Given the description of an element on the screen output the (x, y) to click on. 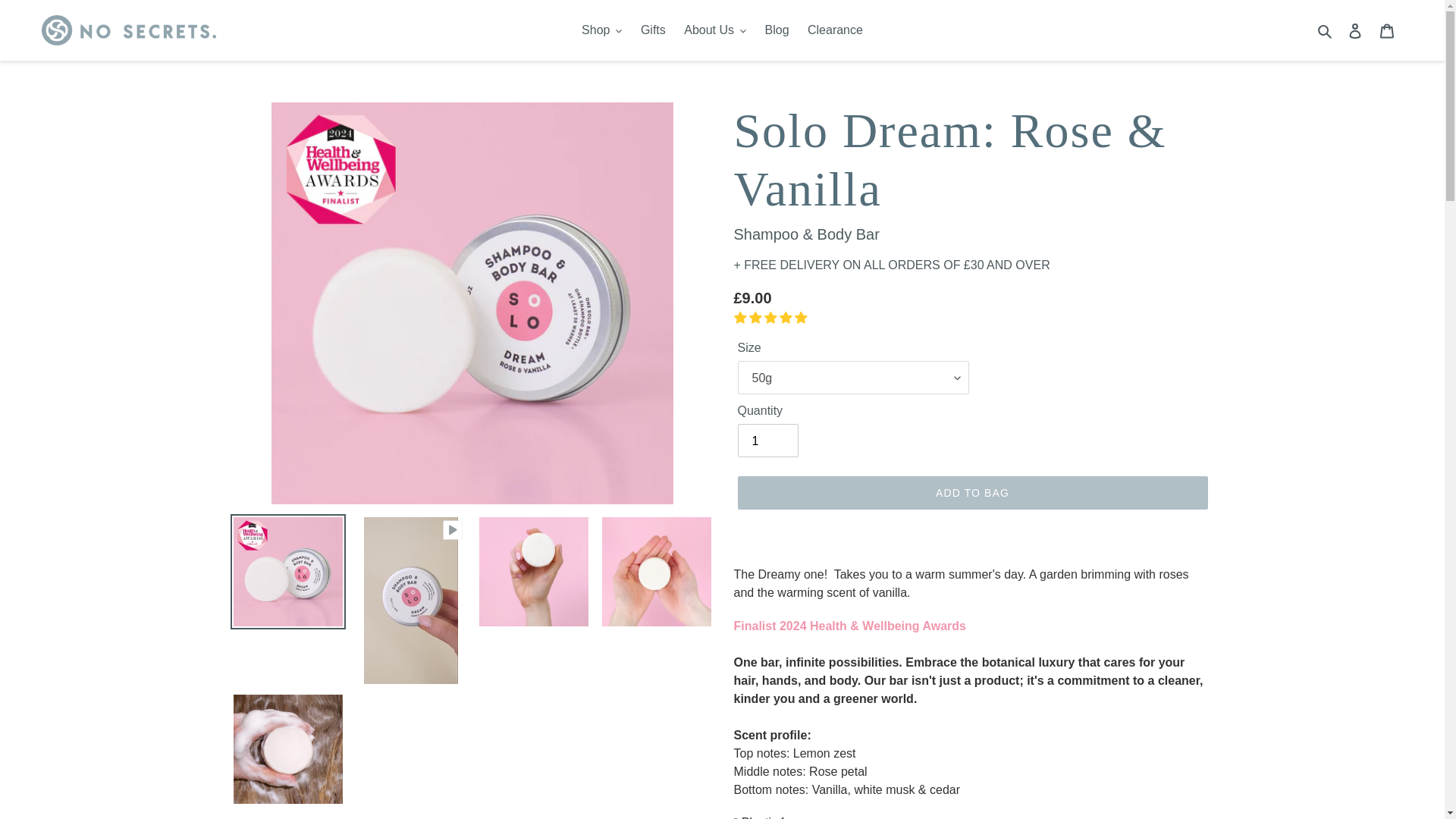
Clearance (834, 29)
Search (1326, 30)
Cart (1387, 29)
1 (766, 440)
Shop (600, 29)
Gifts (652, 29)
Log in (1355, 29)
About Us (715, 29)
Blog (776, 29)
